Given the description of an element on the screen output the (x, y) to click on. 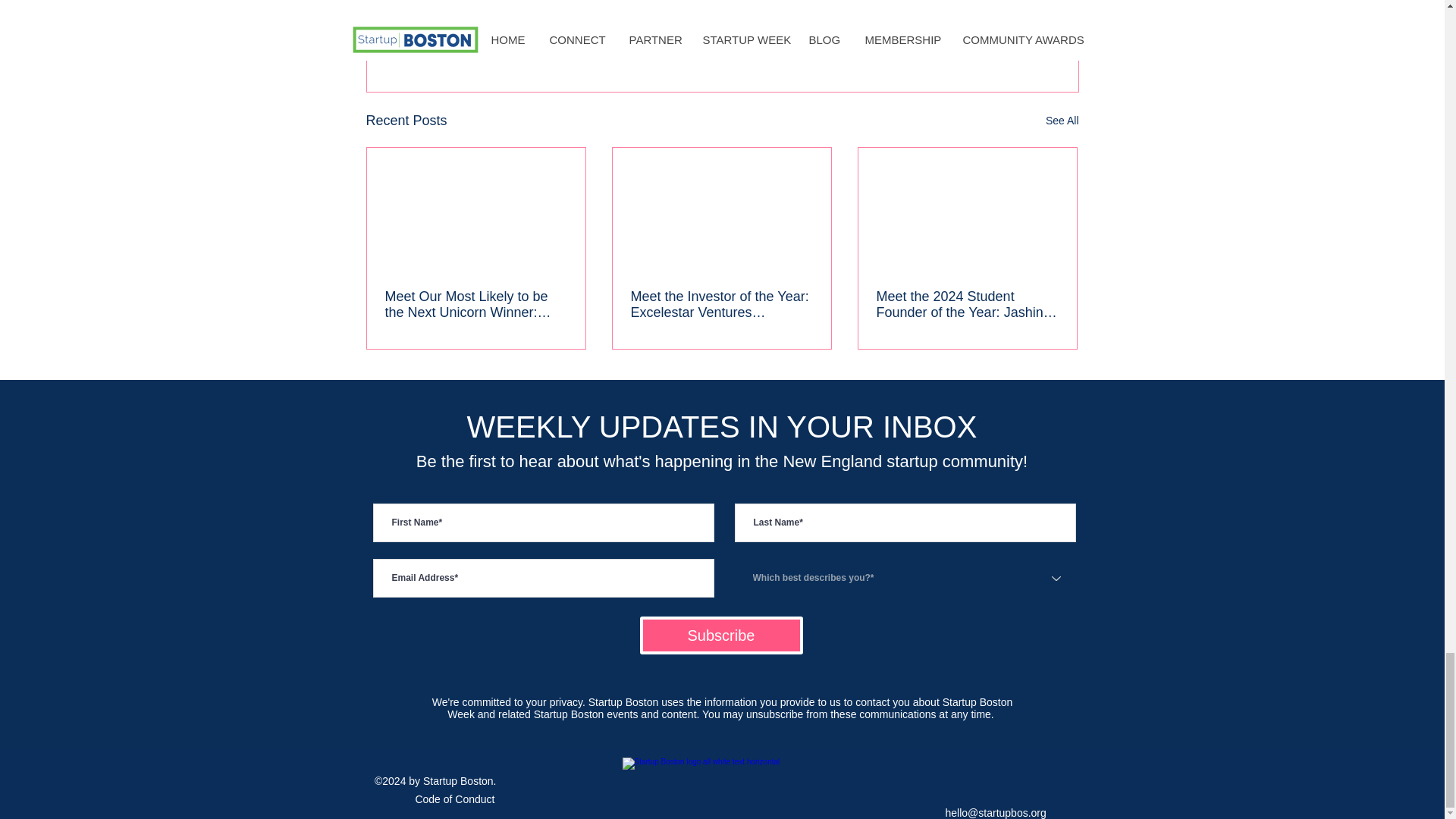
For Founders (971, 23)
